Given the description of an element on the screen output the (x, y) to click on. 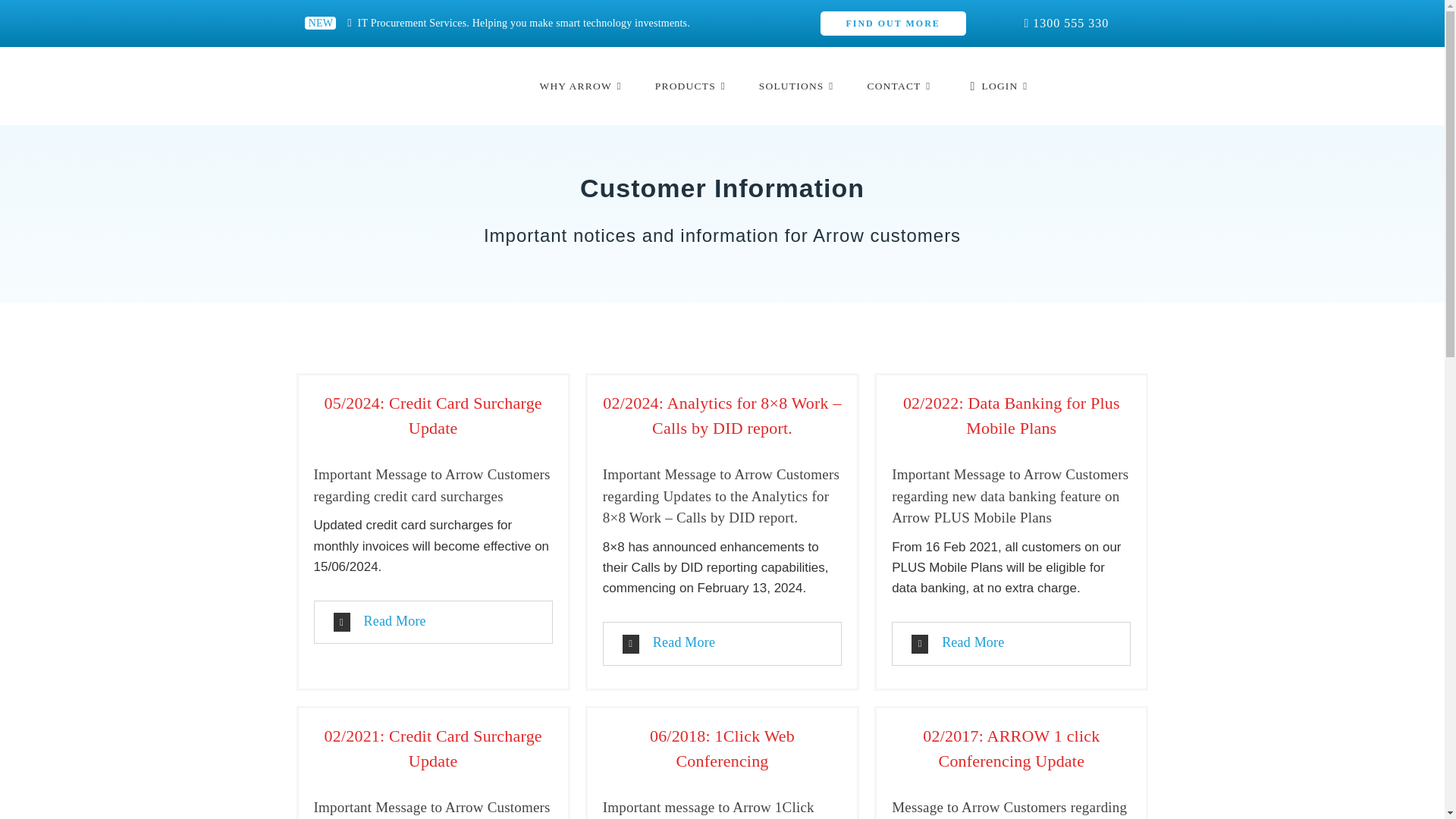
WHY ARROW (579, 86)
FIND OUT MORE (893, 23)
PRODUCTS (690, 86)
1300 555 330 (1070, 22)
